Given the description of an element on the screen output the (x, y) to click on. 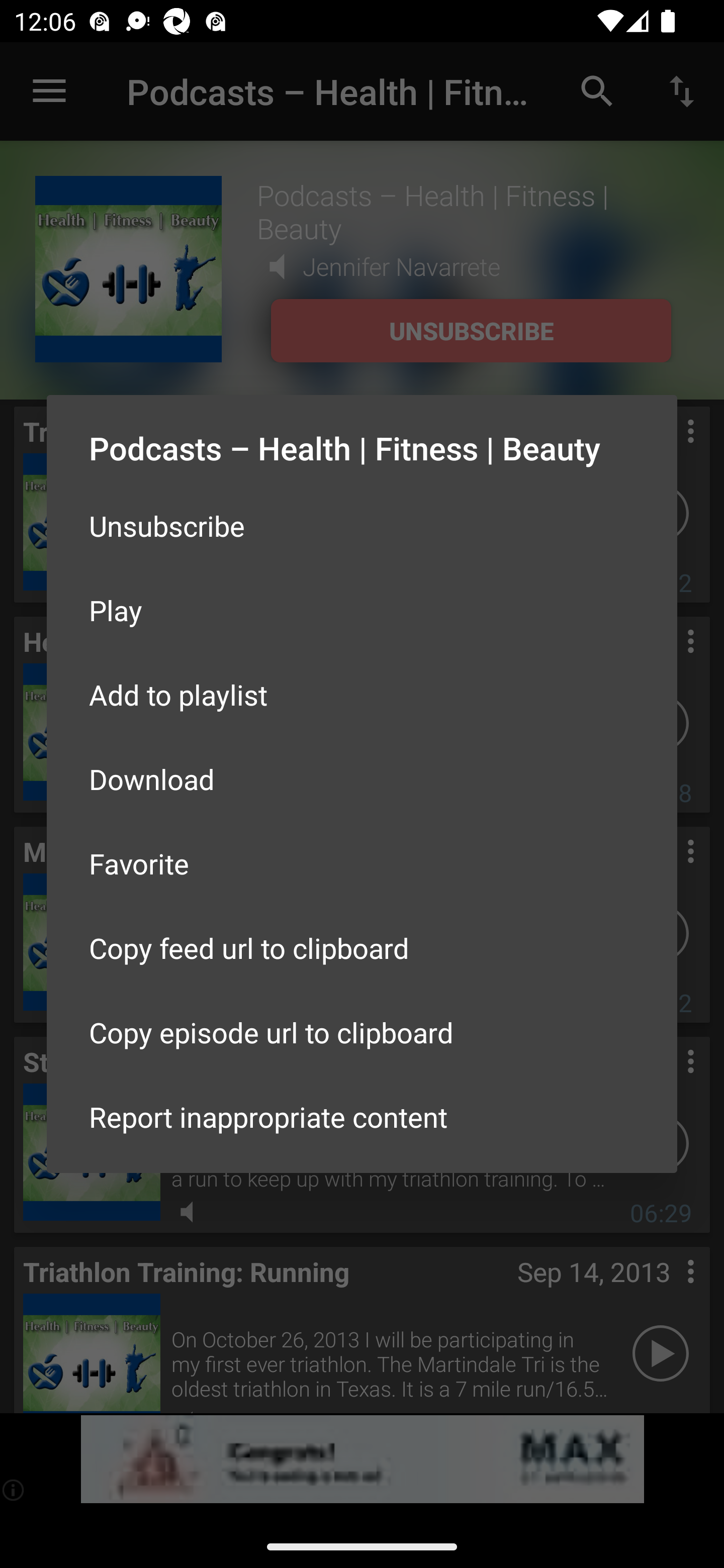
Unsubscribe (361, 524)
Play (361, 609)
Add to playlist (361, 694)
Download (361, 778)
Favorite (361, 863)
Copy feed url to clipboard (361, 947)
Copy episode url to clipboard (361, 1031)
Report inappropriate content (361, 1116)
